Given the description of an element on the screen output the (x, y) to click on. 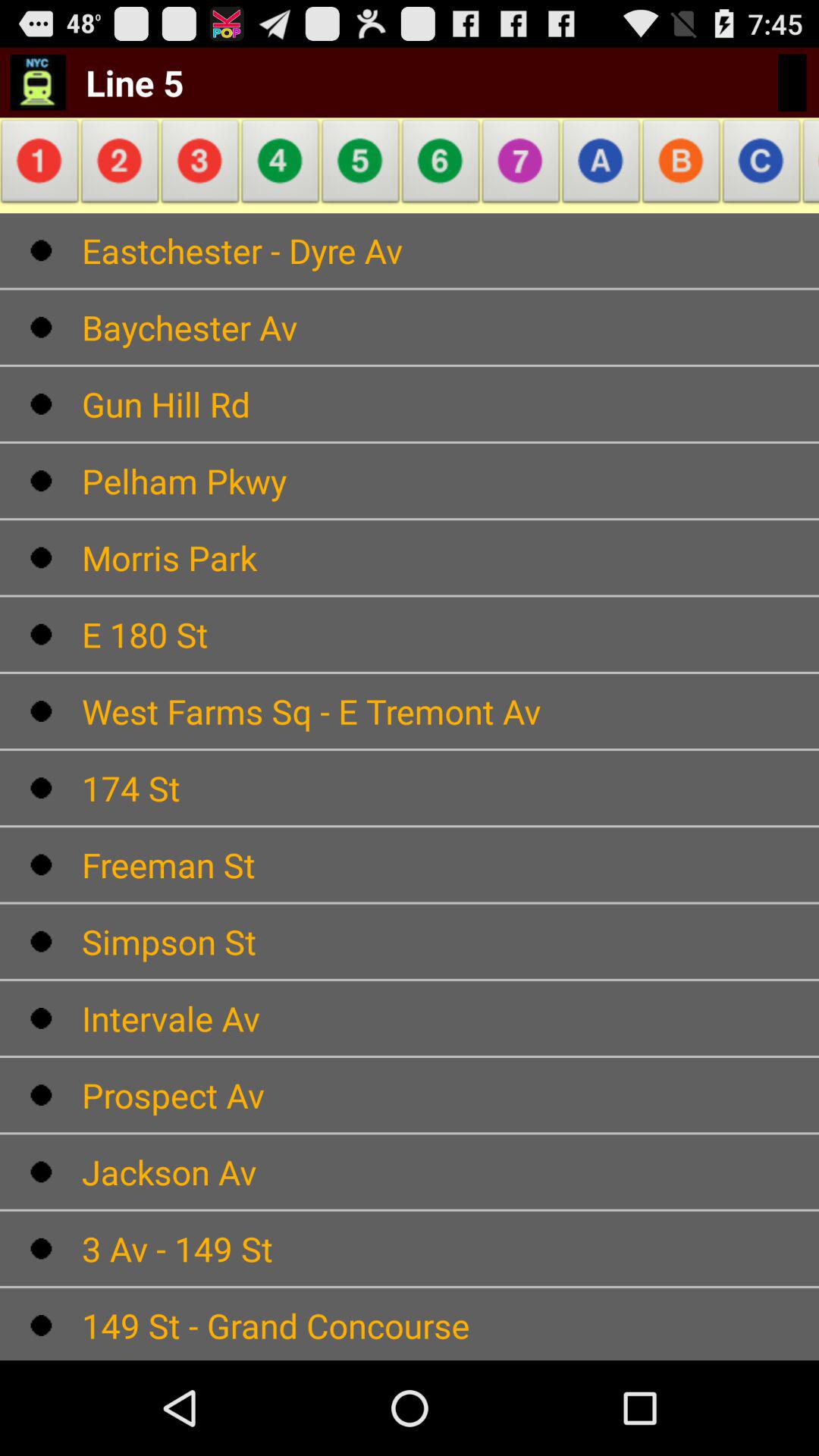
turn on the app above jackson av (450, 1094)
